Given the description of an element on the screen output the (x, y) to click on. 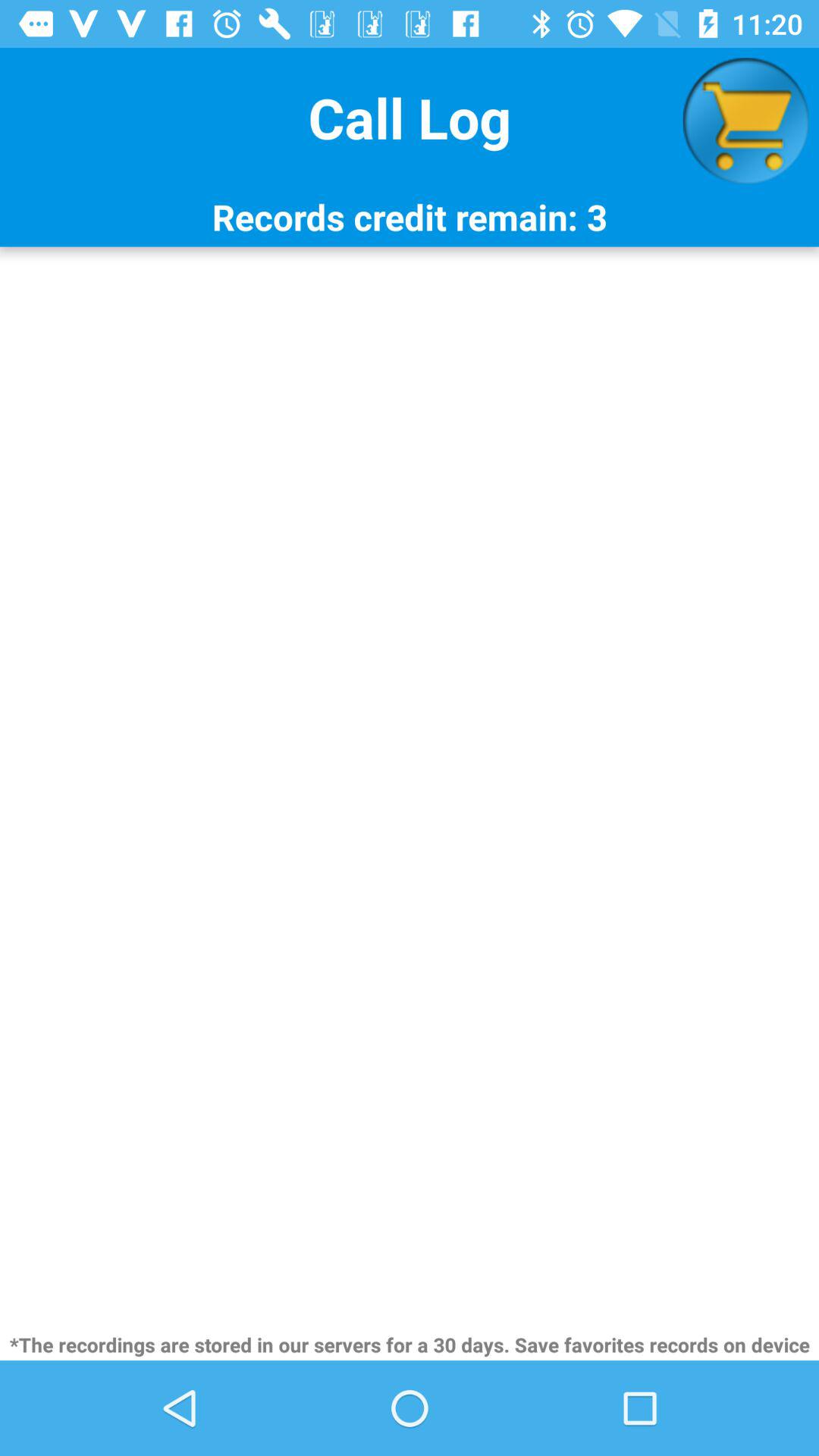
open icon above the the recordings are icon (409, 787)
